Given the description of an element on the screen output the (x, y) to click on. 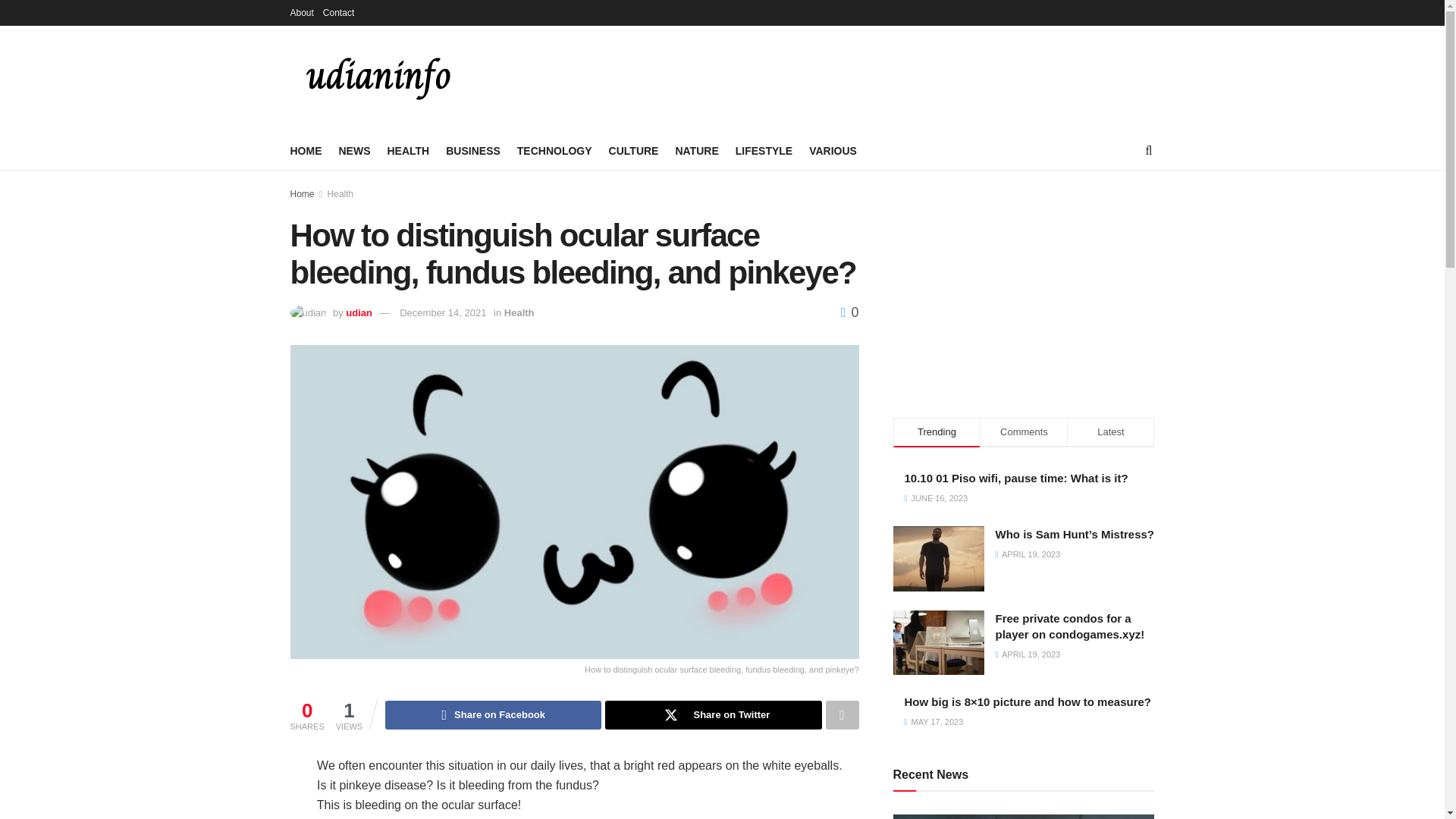
TECHNOLOGY (554, 150)
HOME (305, 150)
Share on Facebook (493, 715)
December 14, 2021 (442, 312)
Advertisement (1023, 288)
Advertisement (878, 76)
CULTURE (633, 150)
Share on Twitter (713, 715)
0 (850, 312)
Home (301, 194)
LIFESTYLE (763, 150)
HEALTH (408, 150)
BUSINESS (472, 150)
NATURE (696, 150)
